Given the description of an element on the screen output the (x, y) to click on. 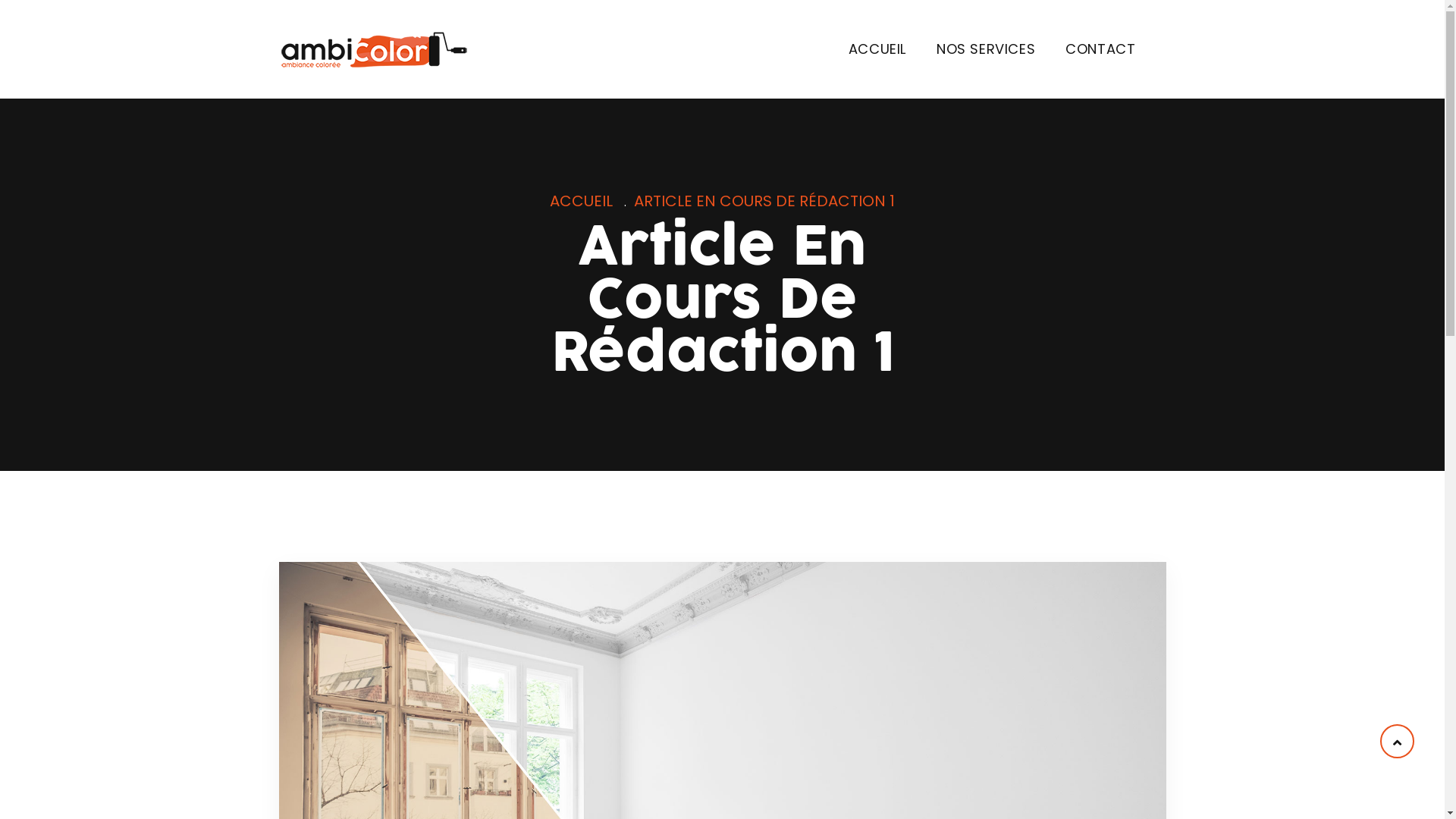
NOS SERVICES Element type: text (985, 49)
Aller au contenu principal Element type: text (0, 0)
ACCUEIL Element type: text (580, 200)
ACCUEIL Element type: text (877, 49)
Accueil Element type: hover (373, 49)
CONTACT Element type: text (1100, 49)
